Given the description of an element on the screen output the (x, y) to click on. 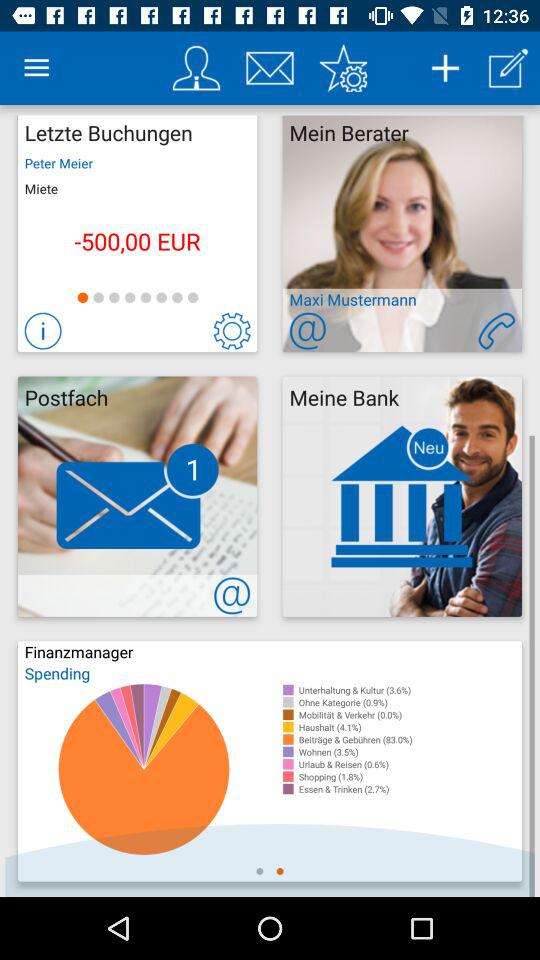
your profile (196, 67)
